Given the description of an element on the screen output the (x, y) to click on. 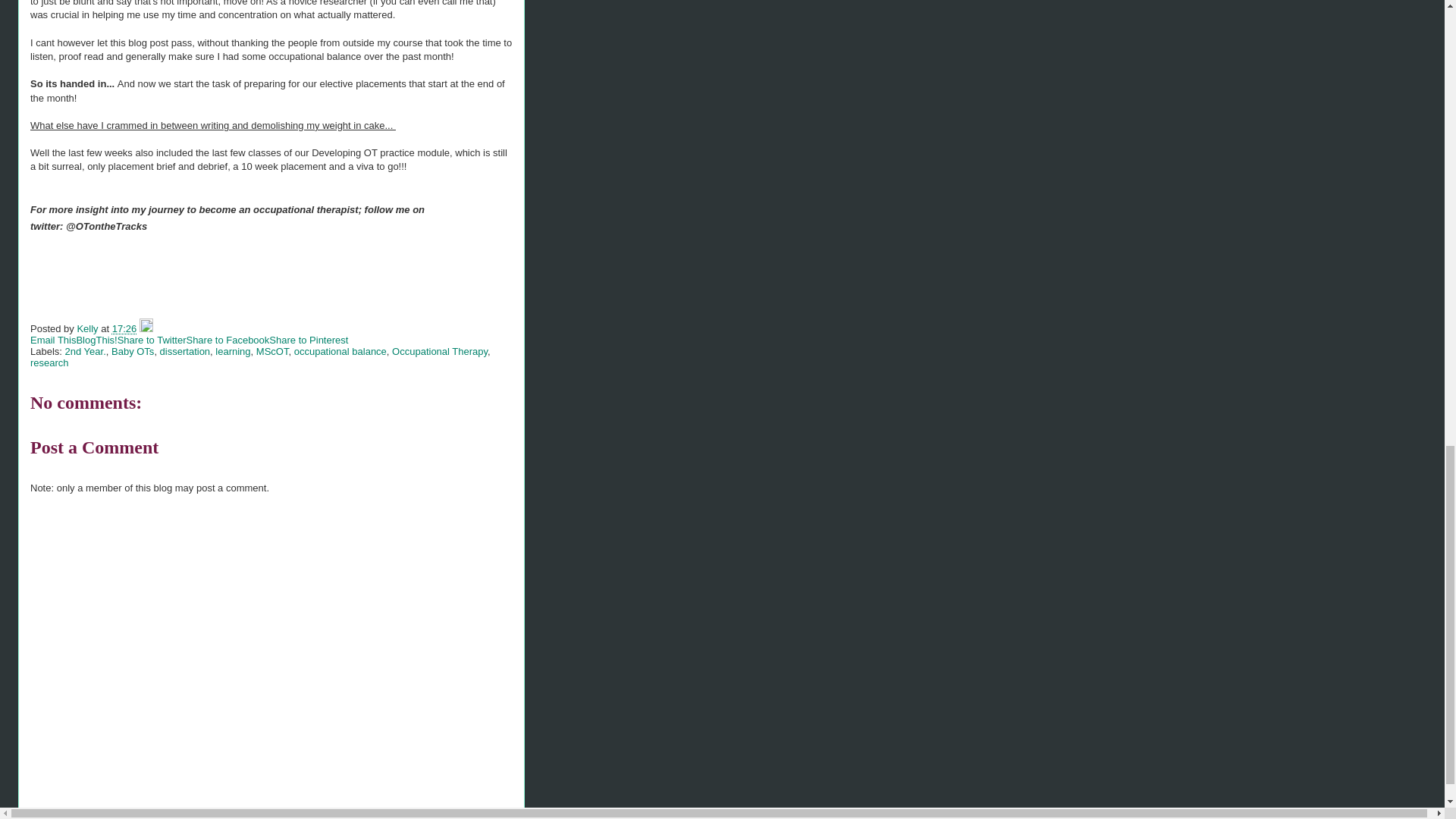
Share to Twitter (151, 339)
research (49, 362)
Share to Pinterest (308, 339)
17:26 (124, 328)
Share to Facebook (227, 339)
MScOT (272, 351)
dissertation (184, 351)
Share to Facebook (227, 339)
learning (232, 351)
2nd Year. (85, 351)
